Given the description of an element on the screen output the (x, y) to click on. 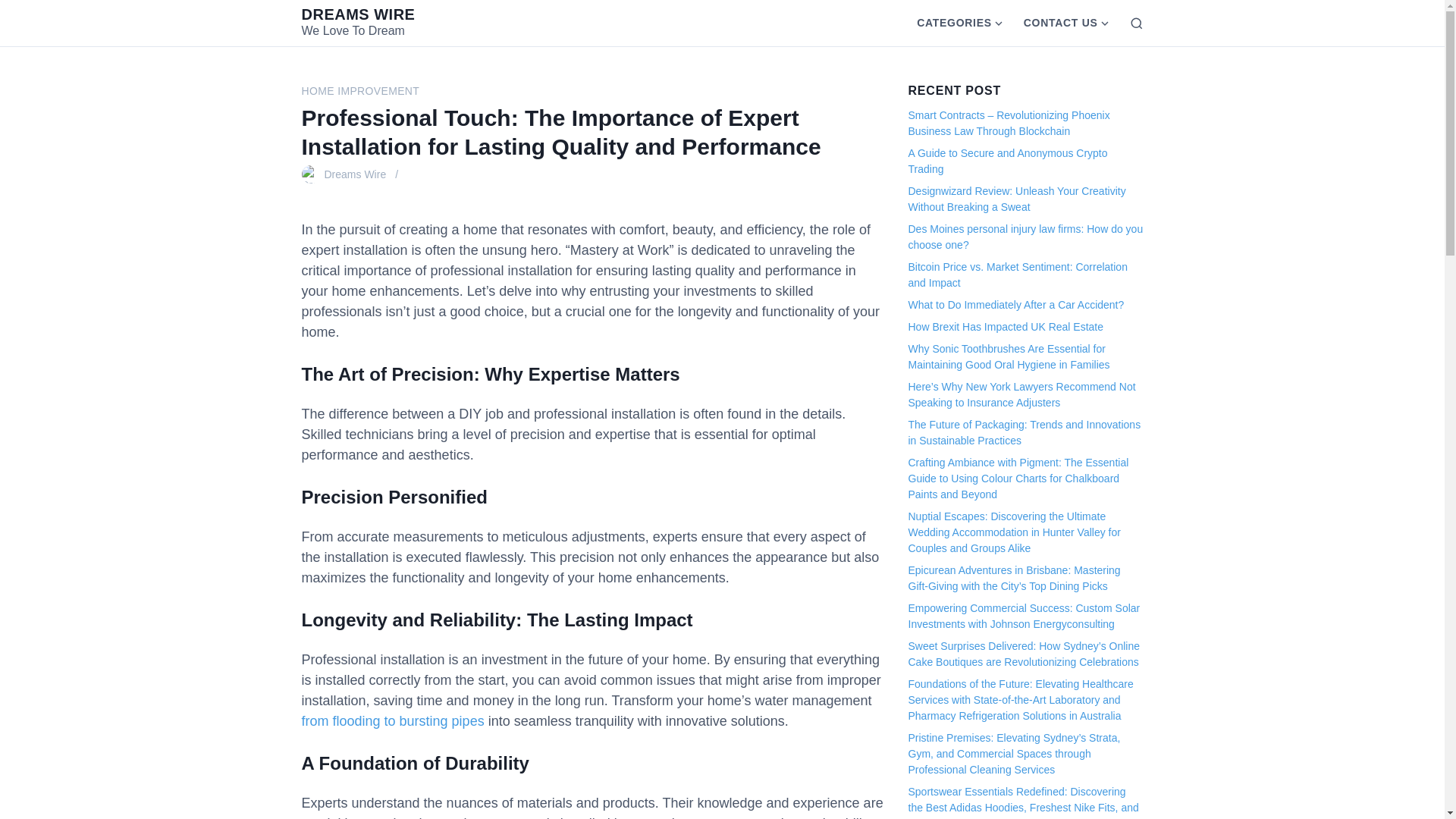
CATEGORIES (949, 22)
DREAMS WIRE (357, 13)
CONTACT US (1055, 22)
